Given the description of an element on the screen output the (x, y) to click on. 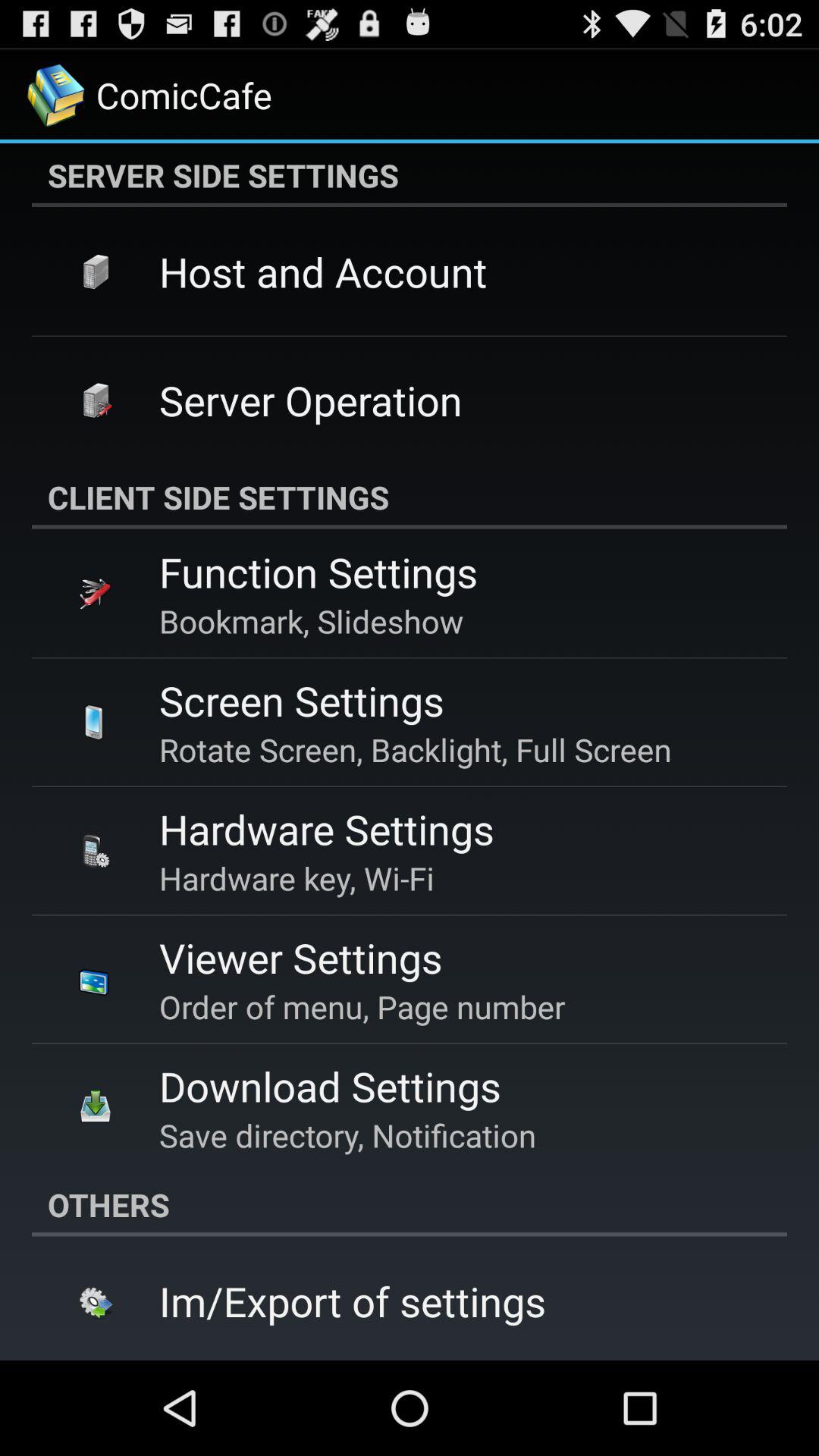
open the app below the host and account item (310, 399)
